Given the description of an element on the screen output the (x, y) to click on. 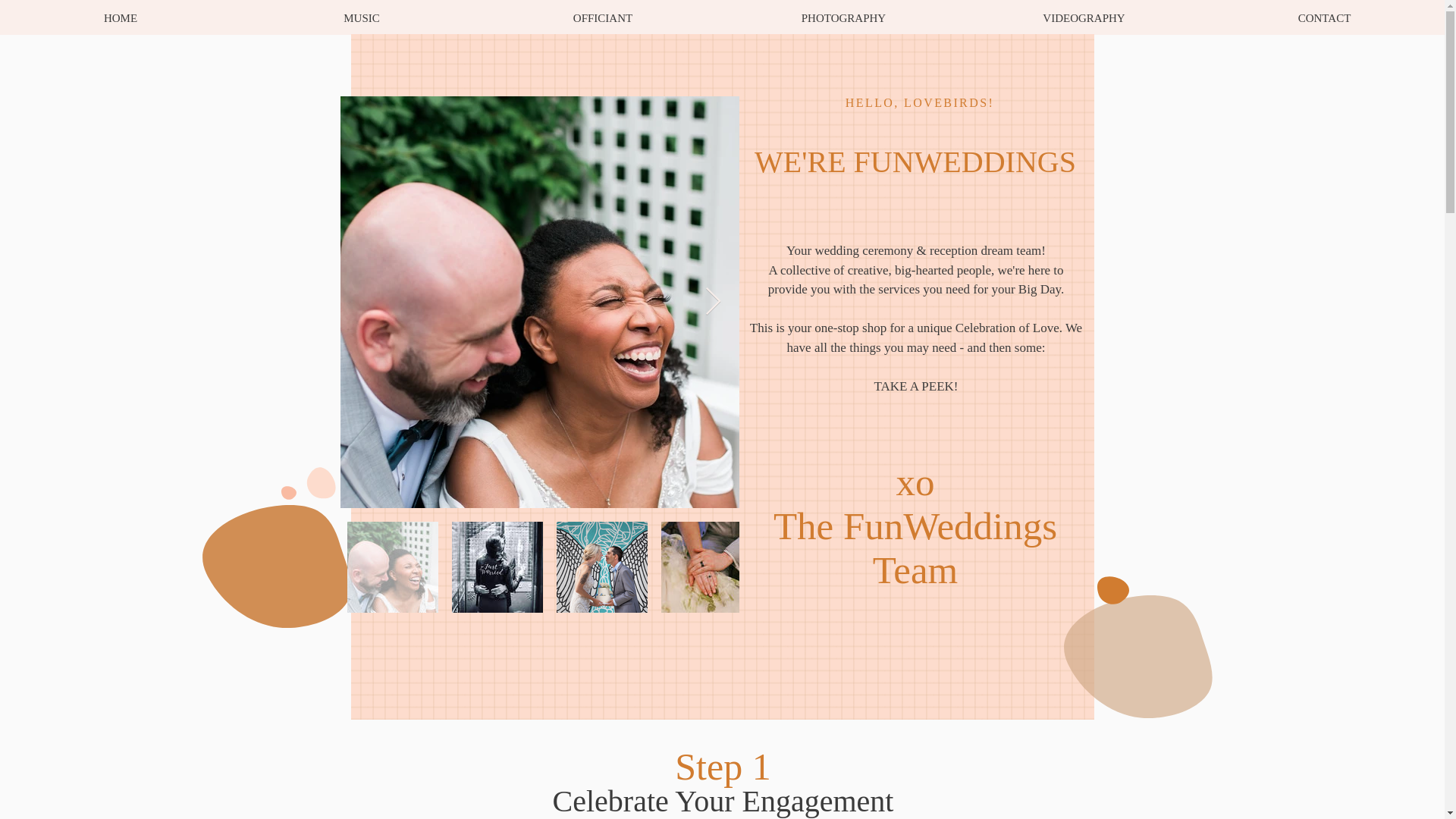
MUSIC (361, 18)
PHOTOGRAPHY (843, 18)
OFFICIANT (602, 18)
HOME (120, 18)
VIDEOGRAPHY (1083, 18)
